Given the description of an element on the screen output the (x, y) to click on. 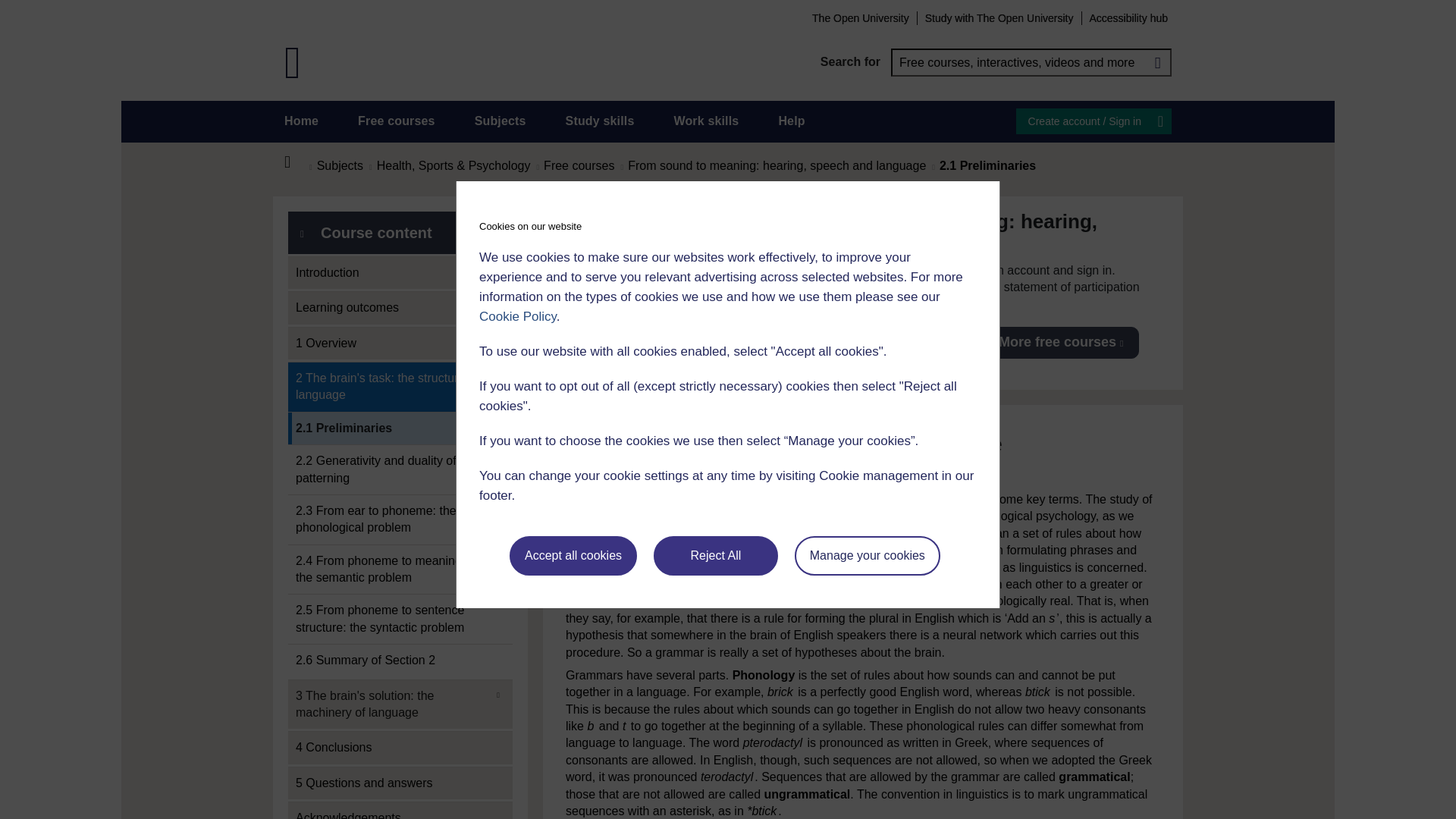
Accept all cookies (573, 555)
Help (791, 120)
Cookie Policy (517, 316)
Home (295, 162)
Study with The Open University (999, 17)
Accessibility hub (1129, 17)
Reject All (715, 555)
Subjects (499, 120)
Study skills (600, 120)
Manage your cookies (867, 555)
OpenLearn (292, 62)
The Open University (860, 17)
Work skills (705, 120)
Free courses (396, 120)
Home (300, 120)
